Given the description of an element on the screen output the (x, y) to click on. 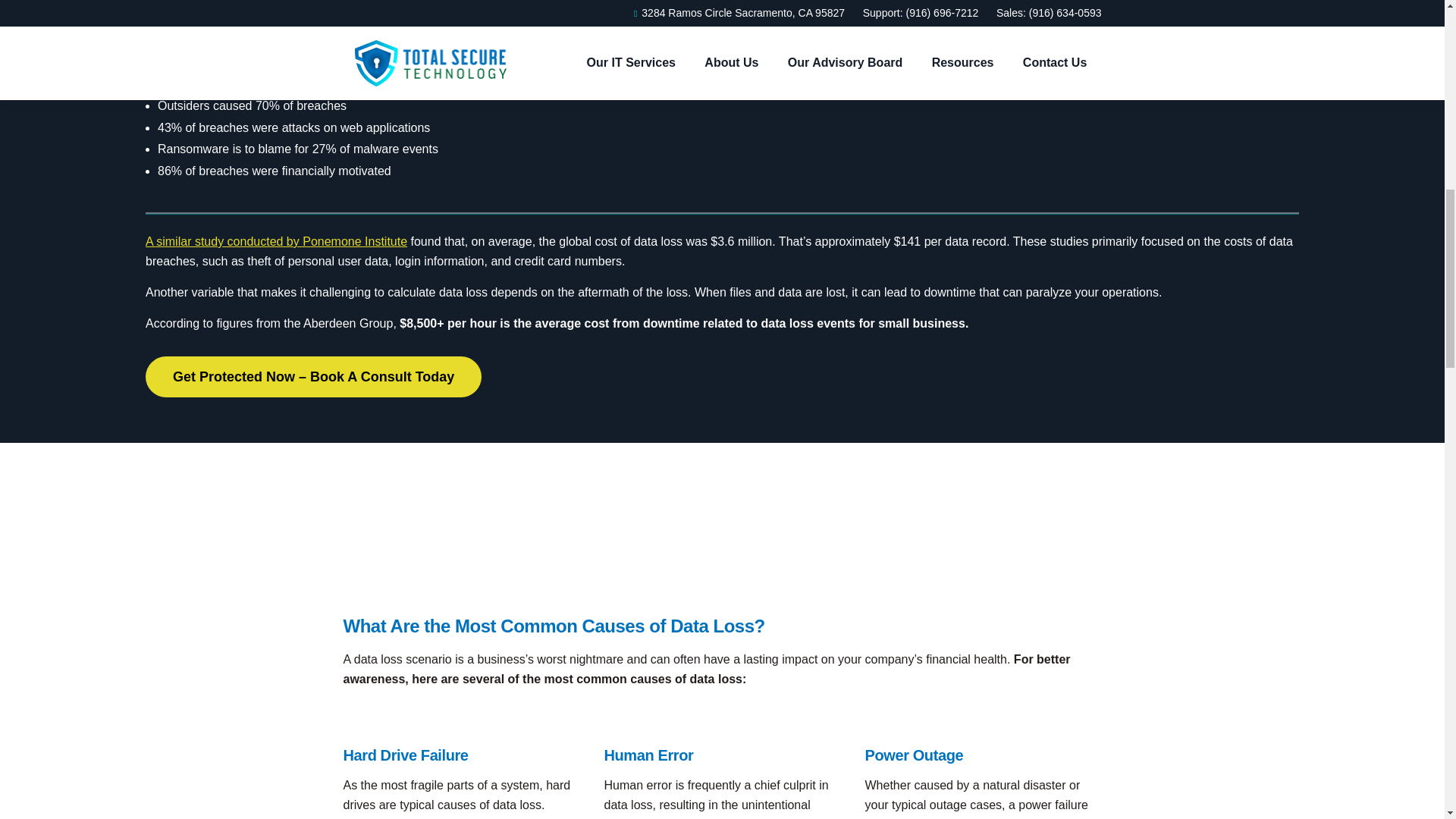
A study done by Verizon (738, 73)
A similar study conducted by Ponemone Institute (276, 241)
